Given the description of an element on the screen output the (x, y) to click on. 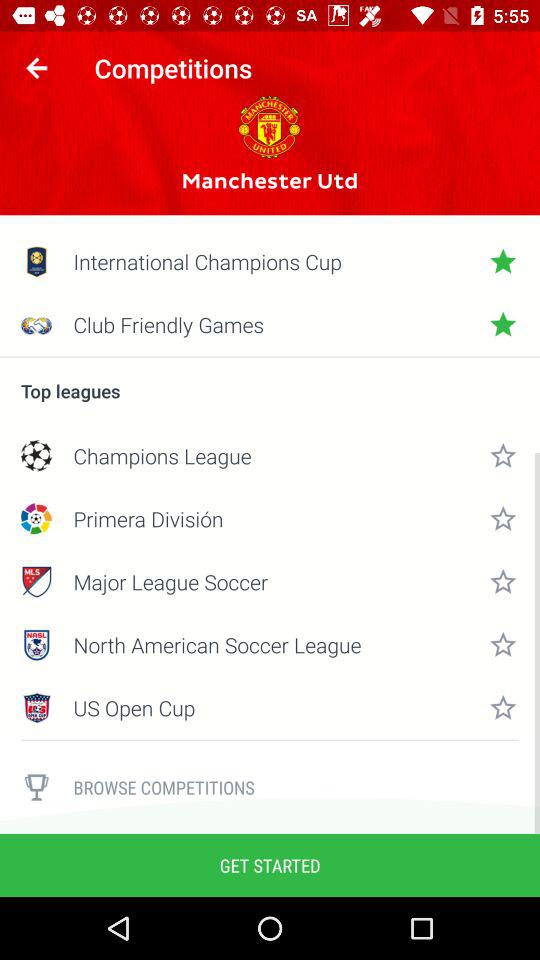
turn on get started item (270, 864)
